Given the description of an element on the screen output the (x, y) to click on. 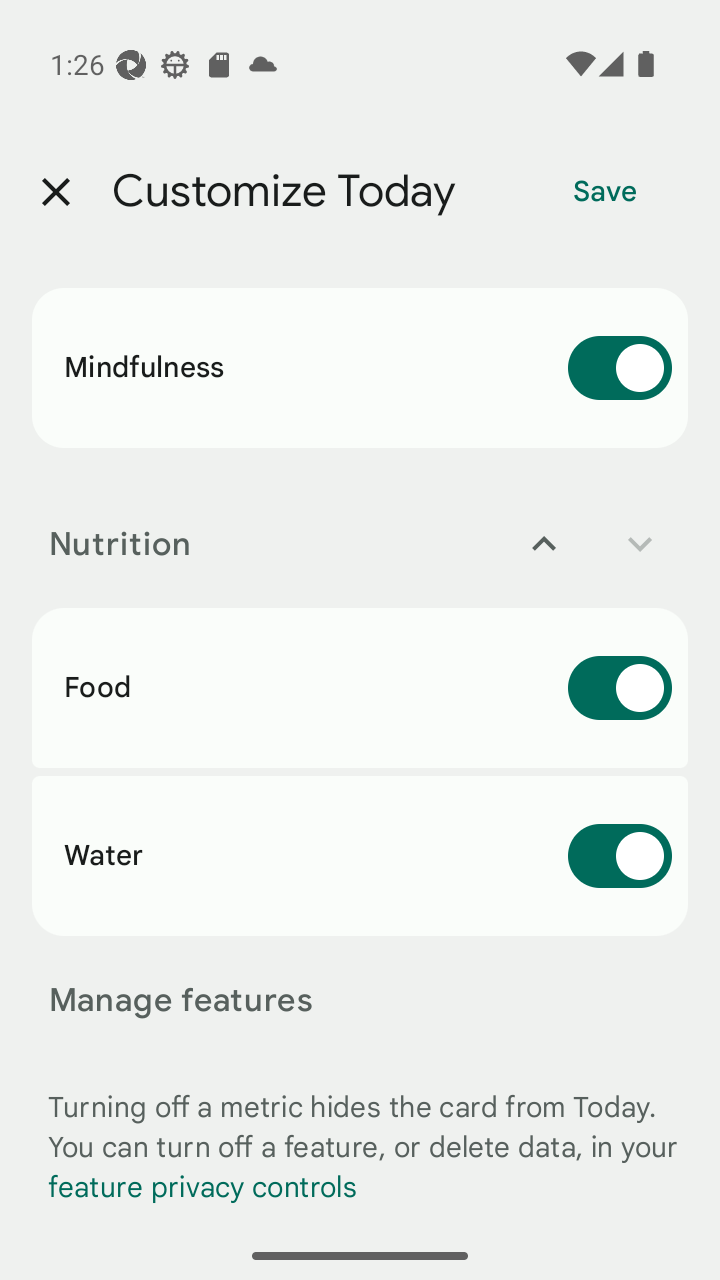
Close (55, 191)
Save (605, 191)
Mindfulness (359, 368)
Move Nutrition up (543, 543)
Move Nutrition down (639, 543)
Food (359, 688)
Water (359, 855)
